Given the description of an element on the screen output the (x, y) to click on. 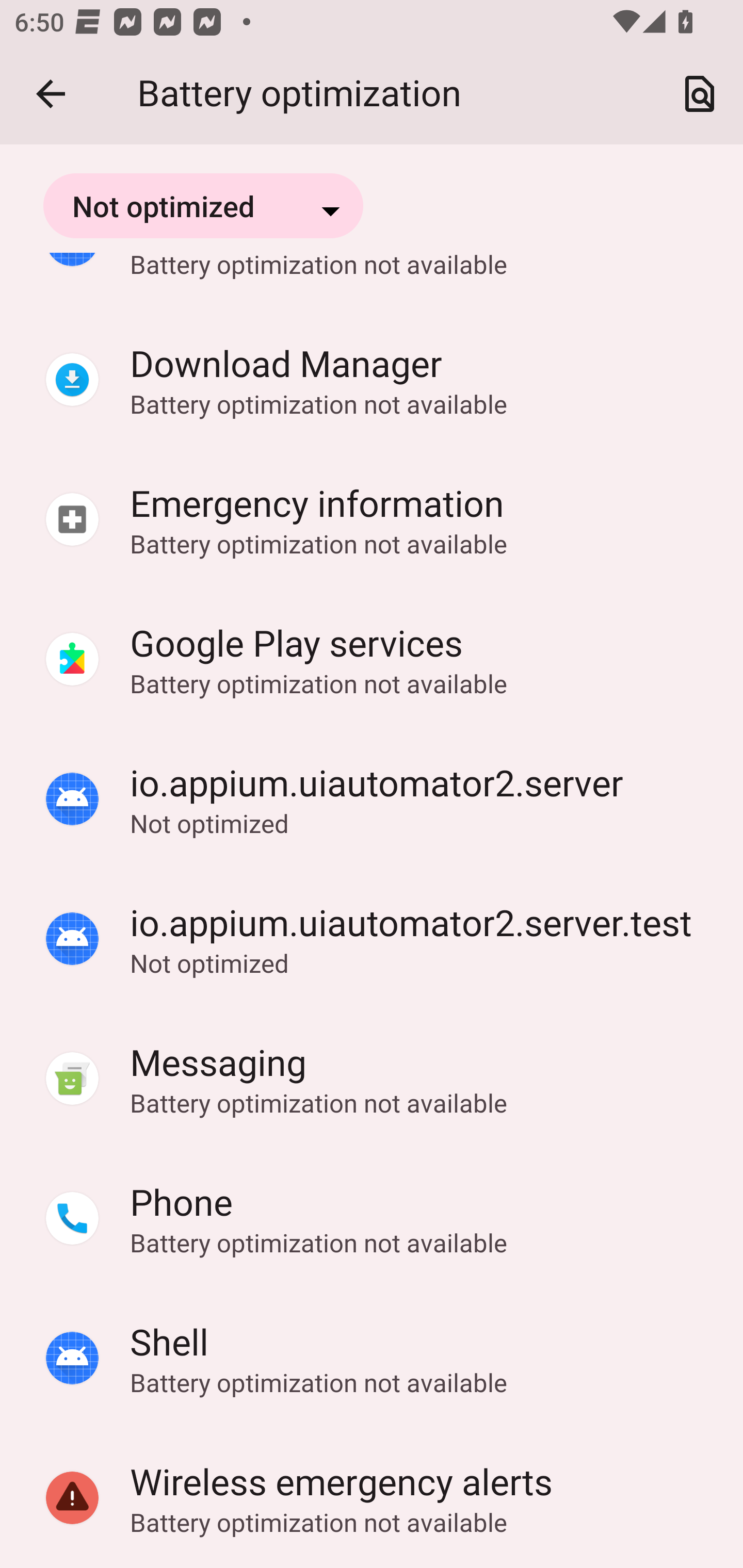
Navigate up (50, 93)
Search (699, 93)
Not optimized (203, 205)
Phone Phone Battery optimization not available (371, 1218)
Shell Shell Battery optimization not available (371, 1358)
